Given the description of an element on the screen output the (x, y) to click on. 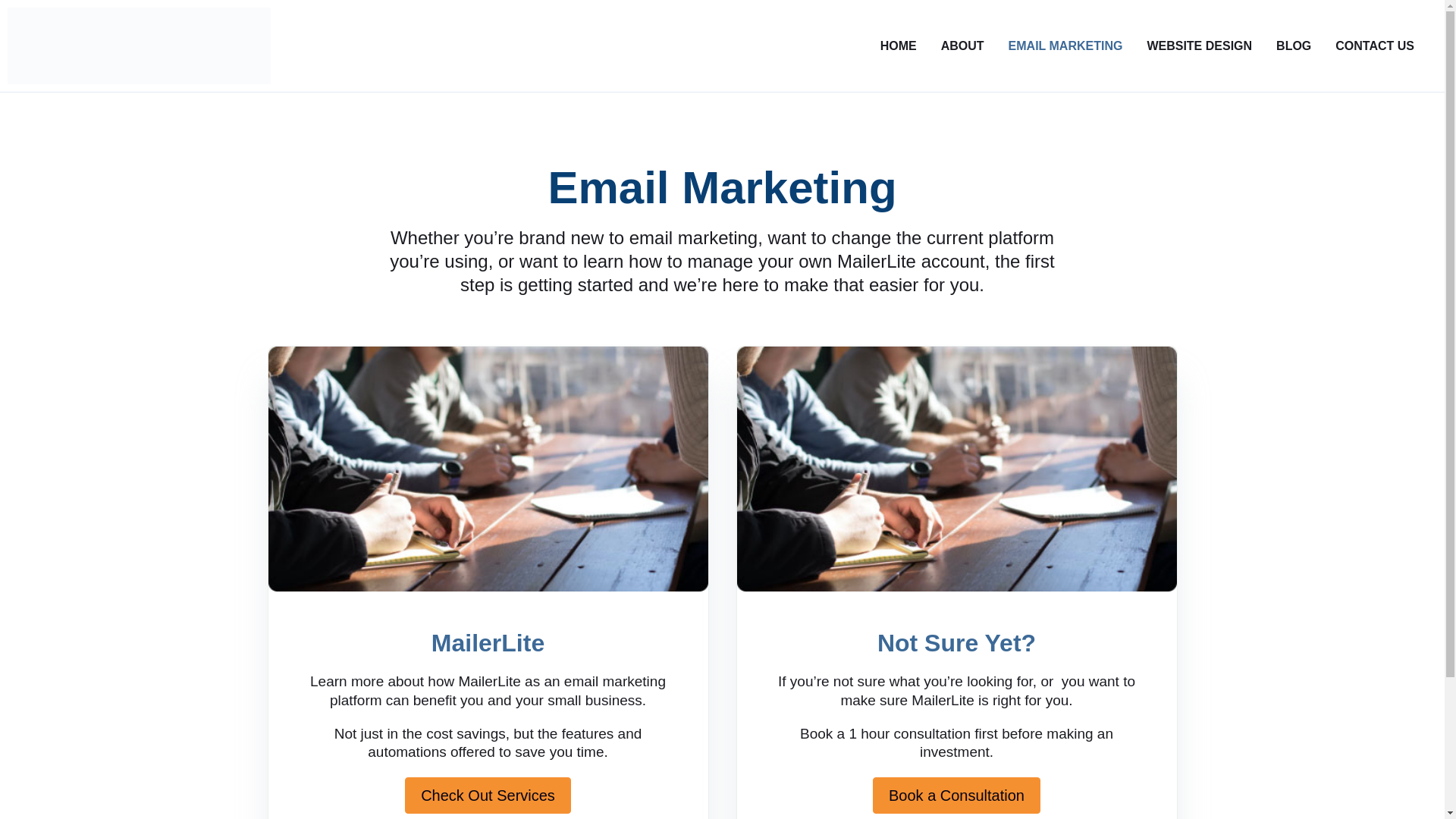
EMAIL MARKETING (1065, 45)
Book a Consultation (956, 795)
CONTACT US (1374, 45)
WEBSITE DESIGN (1199, 45)
Check Out Services (487, 795)
